Given the description of an element on the screen output the (x, y) to click on. 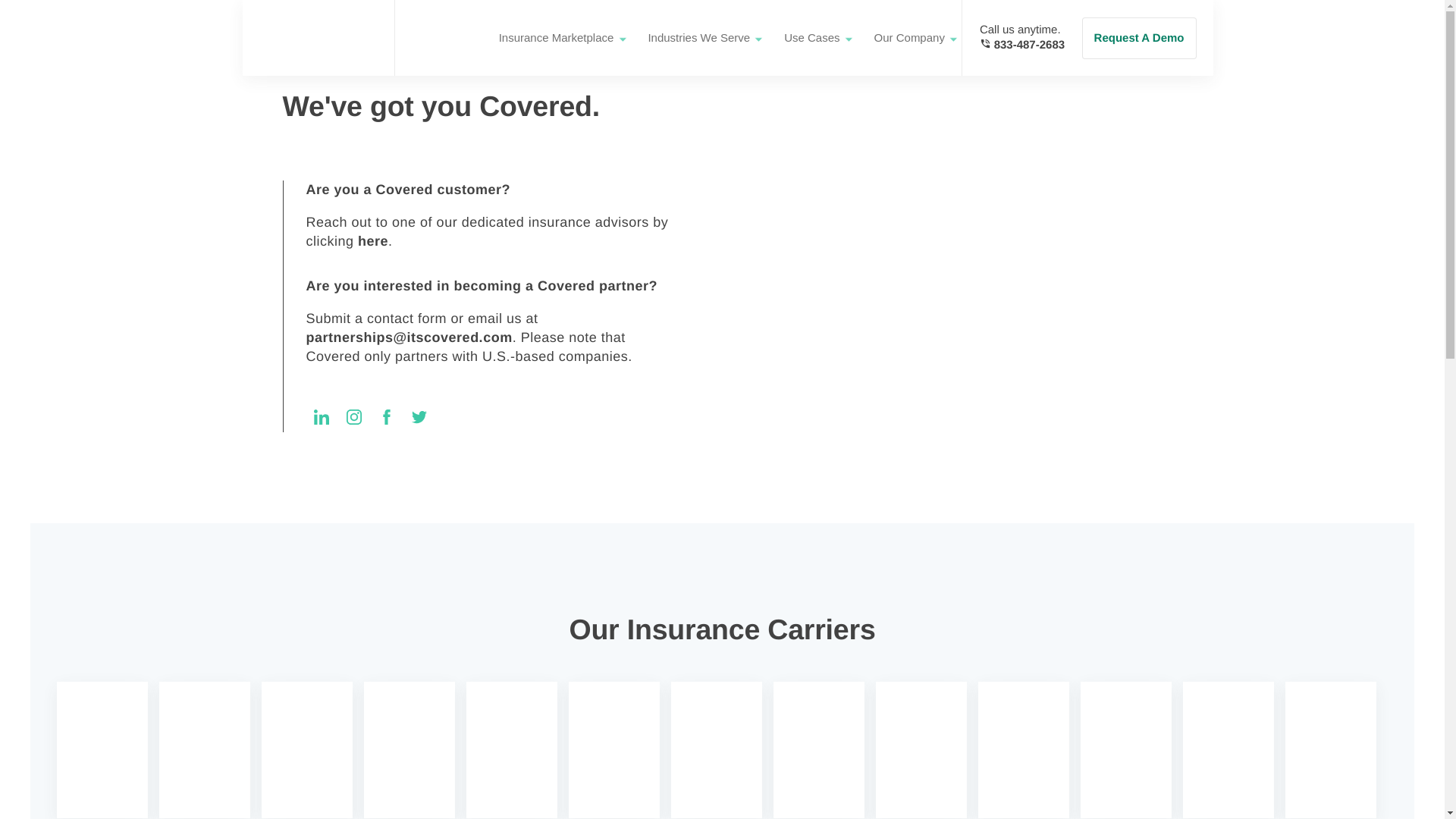
Instagram IconInstagram Icon (353, 417)
Request A Demo (1138, 37)
Facebook IconFacebook Icon (386, 417)
Our Company (908, 38)
Partners (432, 38)
Insurance Marketplace (555, 38)
Industries We Serve (698, 38)
Use Cases (812, 38)
Shop Quotes (1147, 37)
Shop Quotes (1147, 37)
Request A Demo (1138, 37)
LinkedIn IconLinkedIn Icon (1013, 38)
Instagram IconInstagram Icon (321, 417)
